Given the description of an element on the screen output the (x, y) to click on. 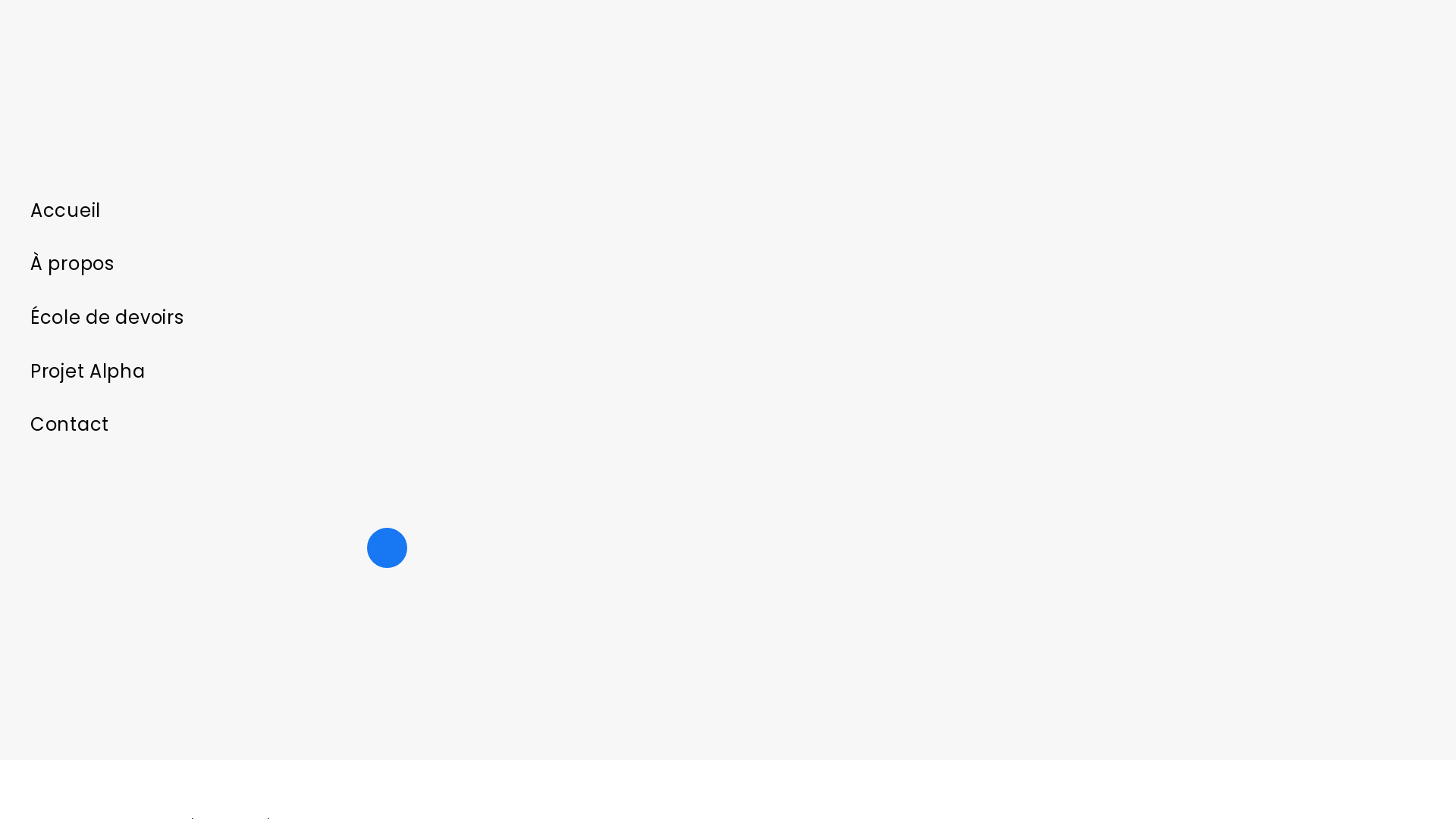
Accueil Element type: text (386, 211)
Projet Alpha Element type: text (386, 371)
Contact Element type: text (386, 424)
